Given the description of an element on the screen output the (x, y) to click on. 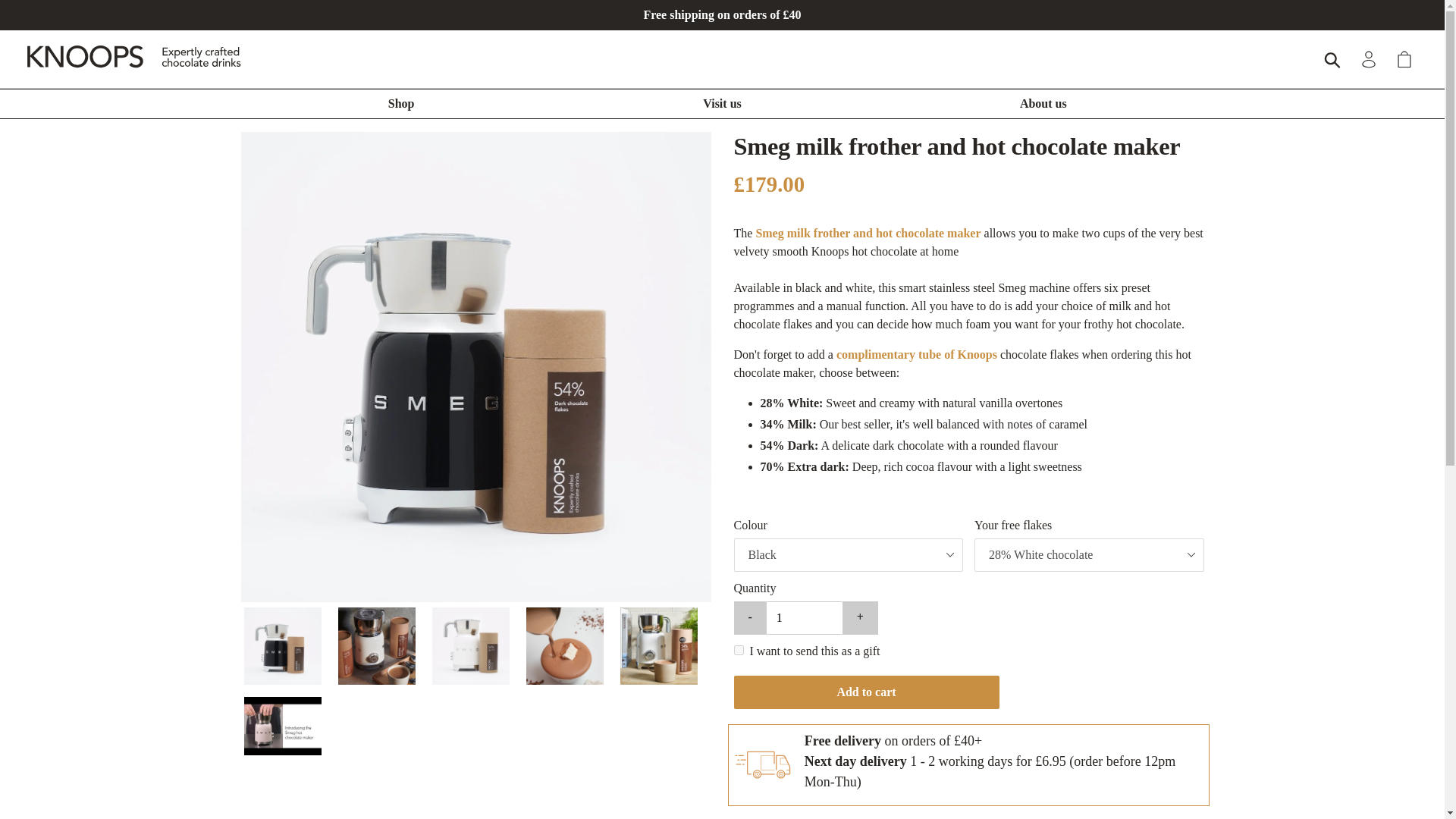
Log in (1369, 58)
1 (805, 617)
Cart (1405, 58)
on (738, 650)
milk frother and hot chocolate maker (884, 233)
Submit (1333, 59)
